Given the description of an element on the screen output the (x, y) to click on. 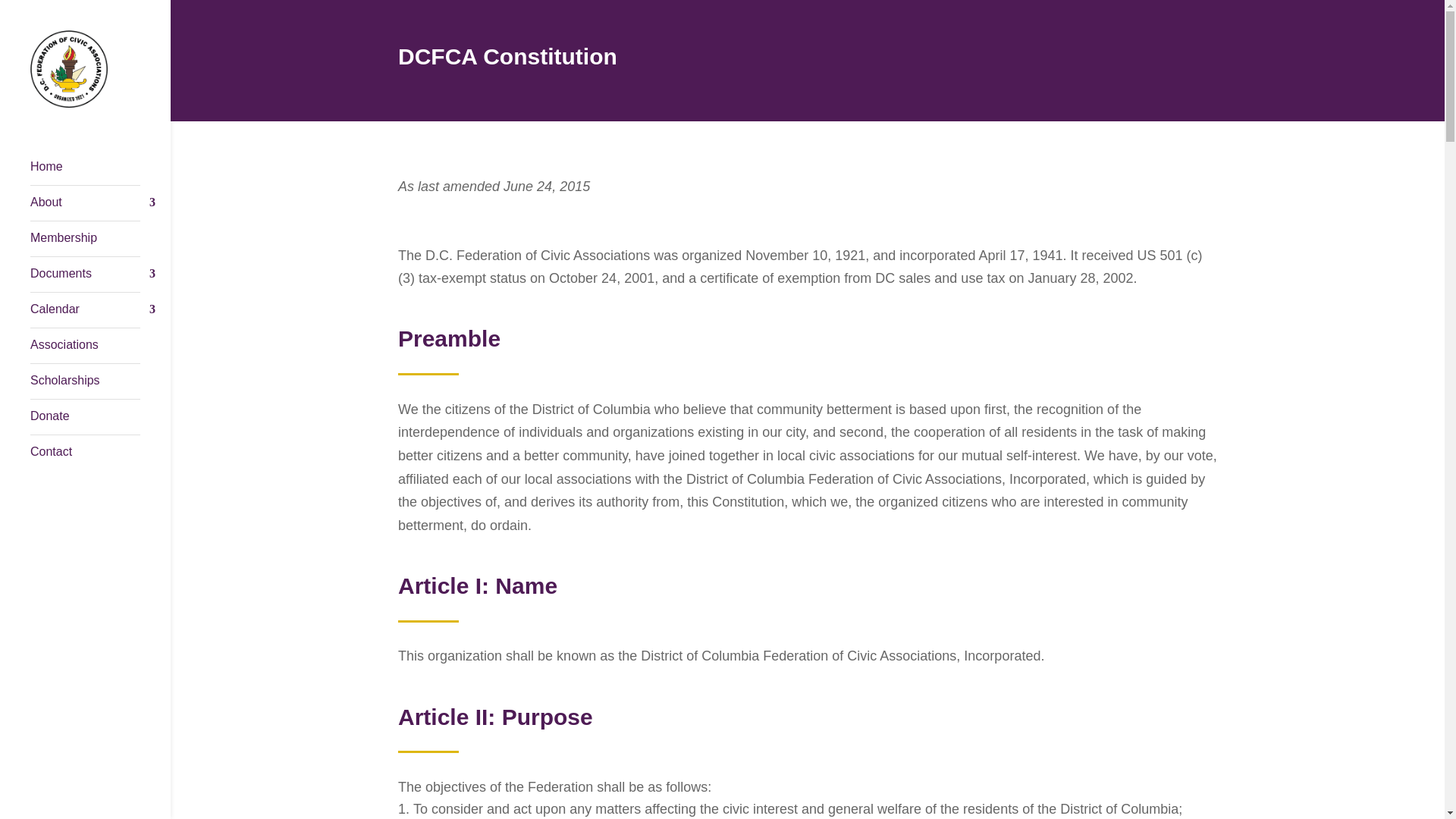
Home (100, 172)
Membership (100, 243)
Associations (100, 351)
Donate (100, 422)
Documents (100, 279)
About (100, 208)
Calendar (100, 314)
Scholarships (100, 386)
Contact (100, 457)
